Given the description of an element on the screen output the (x, y) to click on. 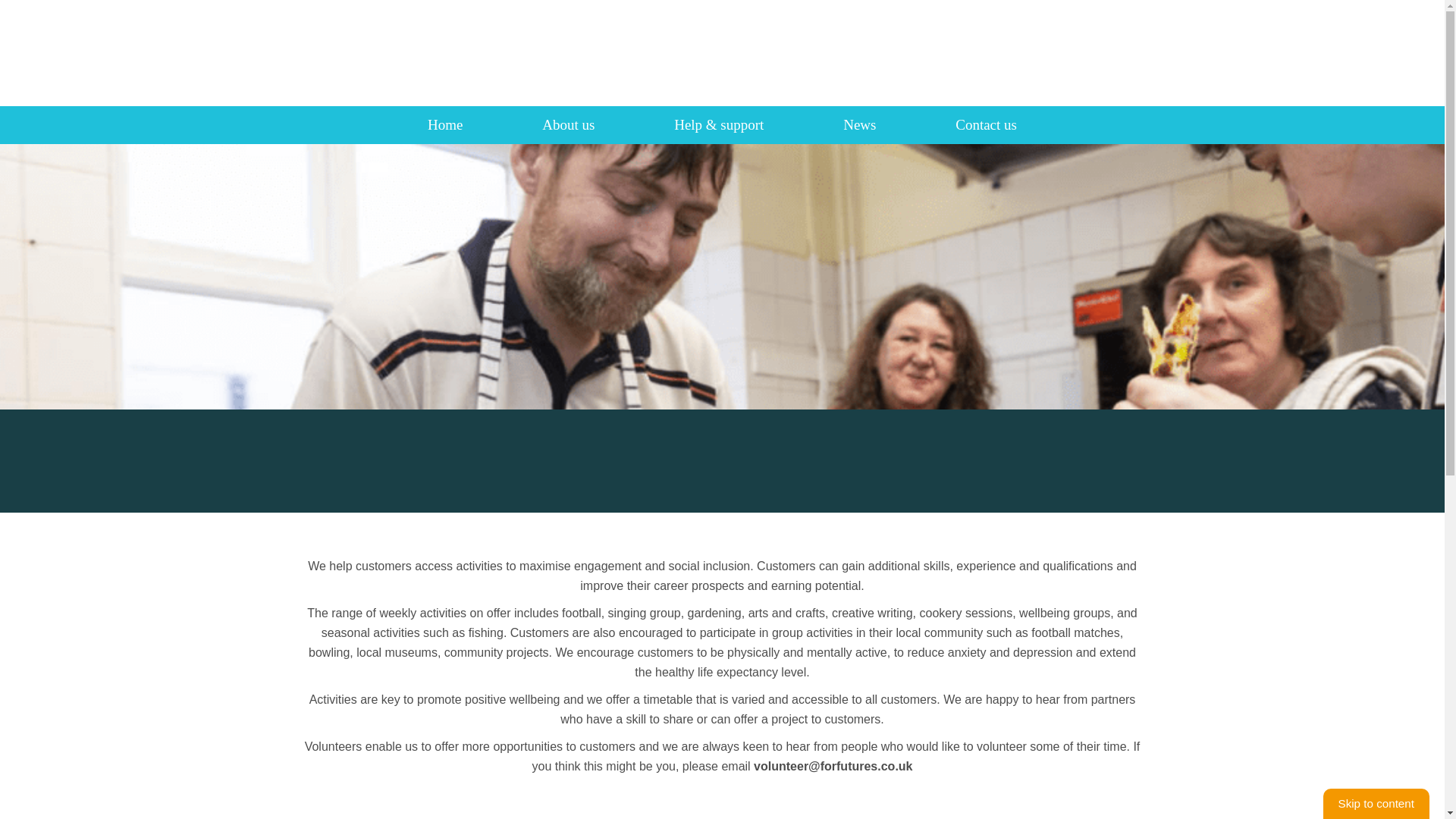
Contact us (985, 124)
News (859, 124)
Home (445, 124)
About us (567, 124)
